Given the description of an element on the screen output the (x, y) to click on. 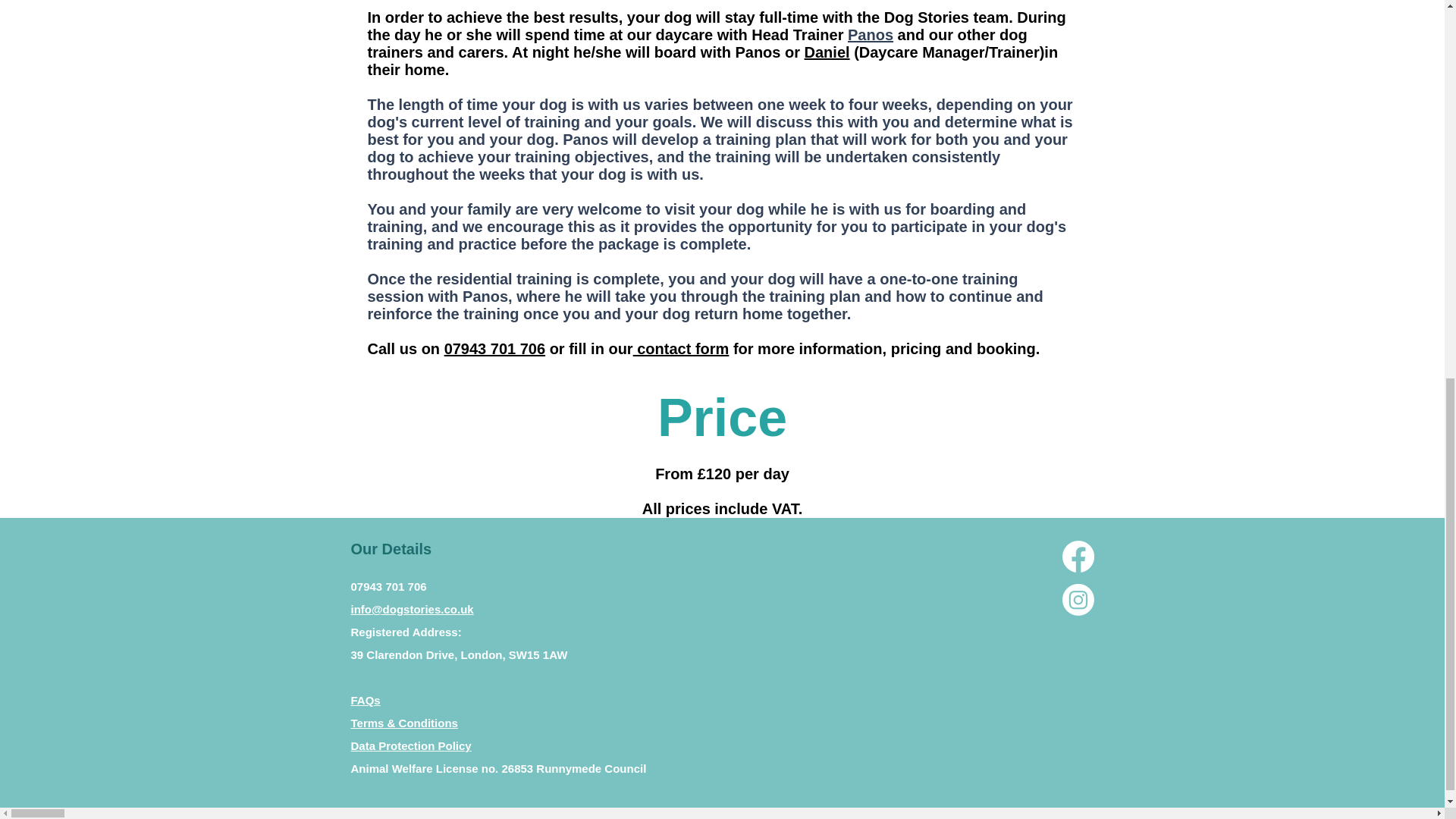
Panos (870, 34)
07943 701 706 (494, 348)
Data Protection Policy (410, 745)
contact form (681, 348)
Daniel (827, 52)
FAQs (365, 699)
